Given the description of an element on the screen output the (x, y) to click on. 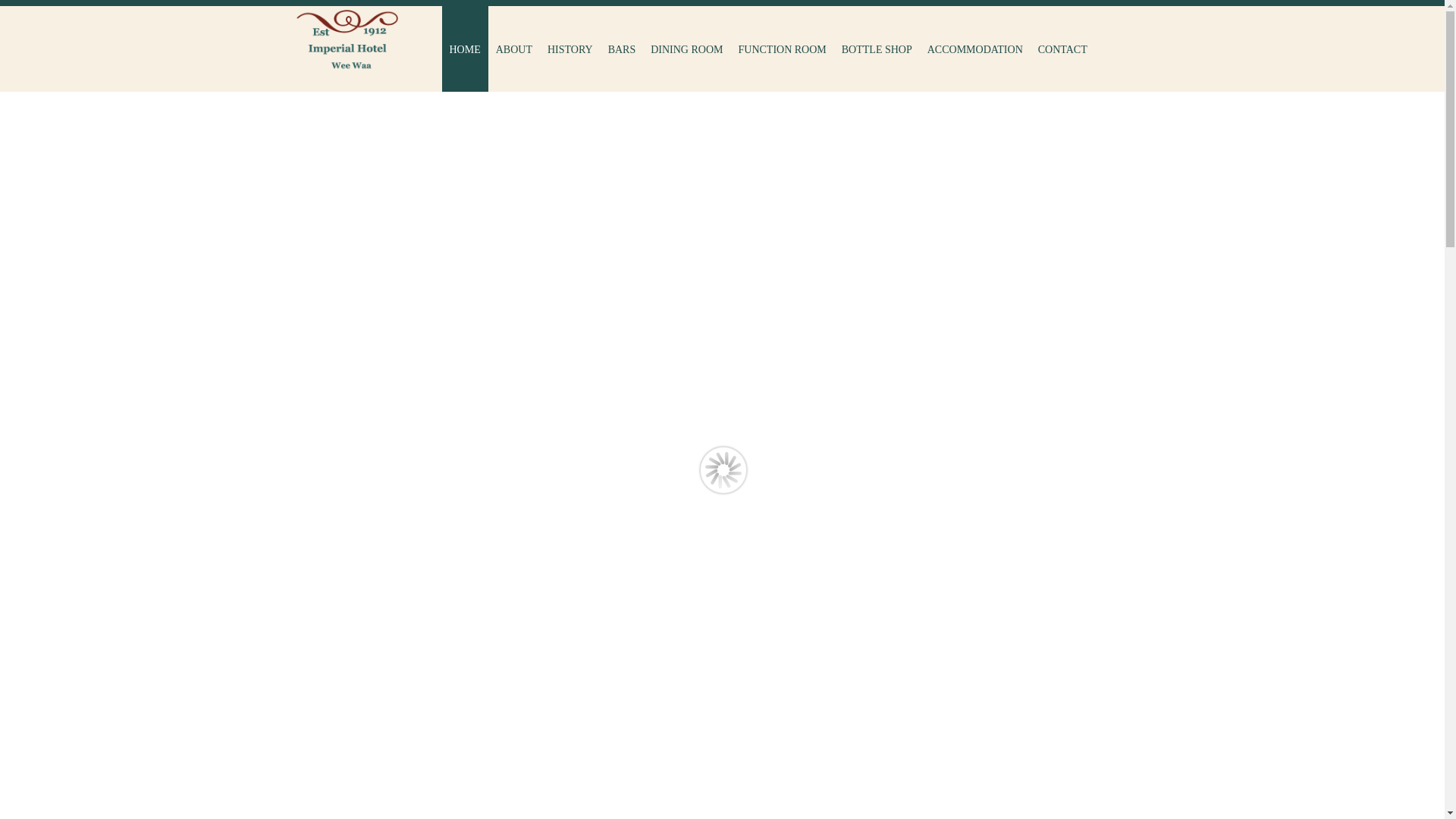
HISTORY Element type: text (569, 48)
ABOUT Element type: text (513, 48)
Imperial Element type: hover (347, 42)
BARS Element type: text (621, 48)
FUNCTION ROOM Element type: text (781, 48)
CONTACT Element type: text (1062, 48)
HOME Element type: text (464, 48)
ACCOMMODATION Element type: text (974, 48)
BOTTLE SHOP Element type: text (876, 48)
DINING ROOM Element type: text (686, 48)
